Given the description of an element on the screen output the (x, y) to click on. 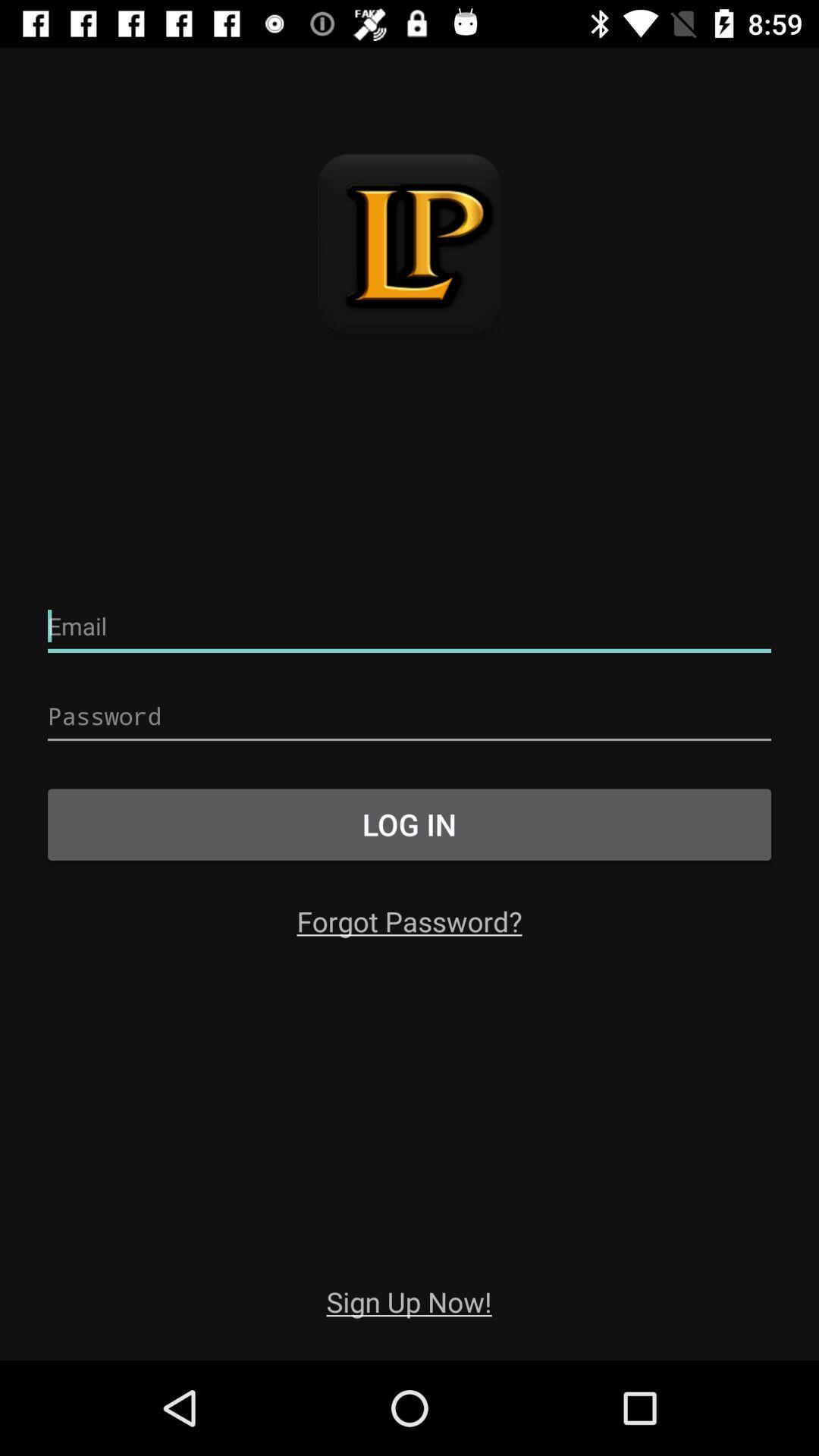
jump until the log in button (409, 824)
